Given the description of an element on the screen output the (x, y) to click on. 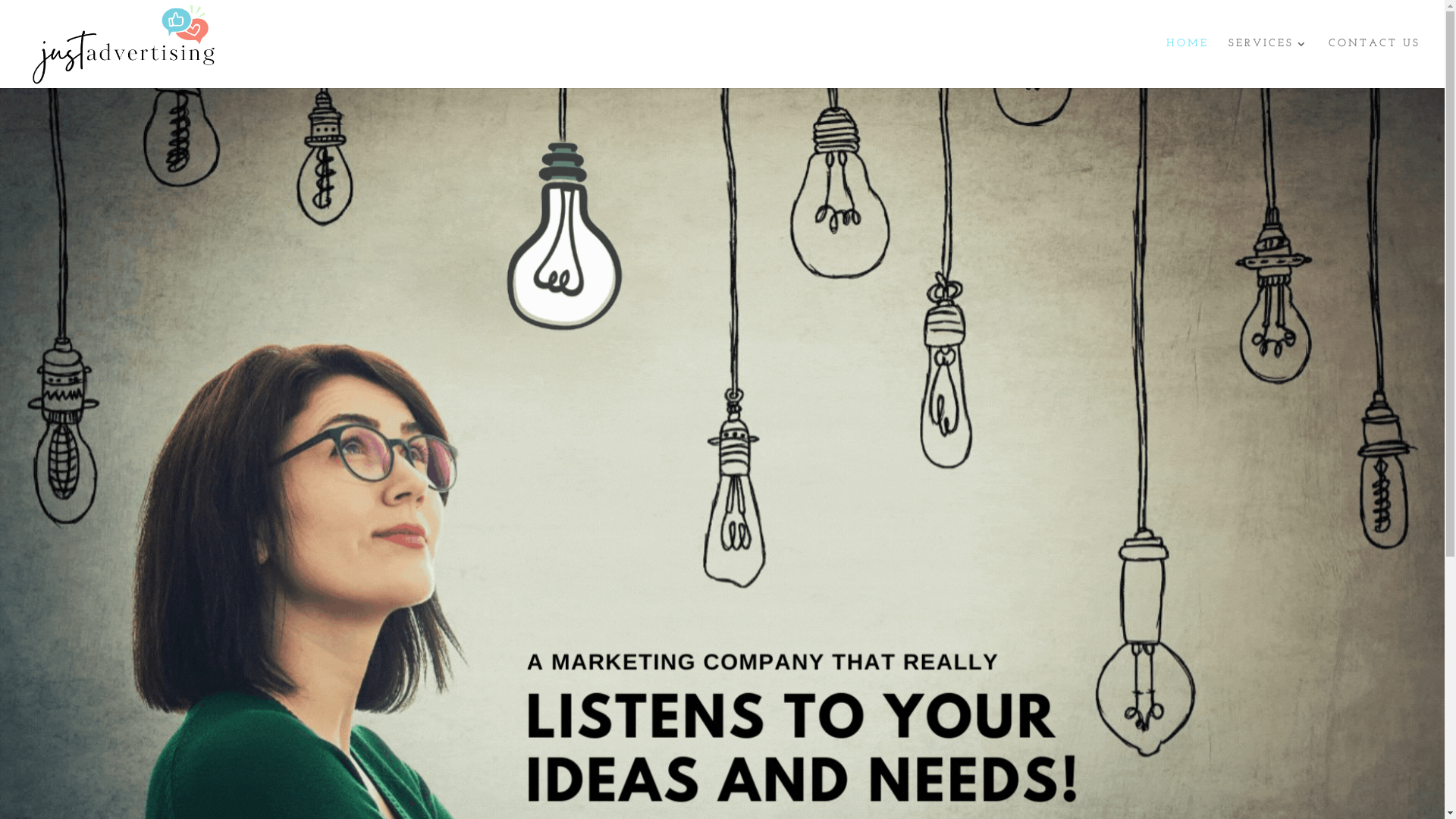
CONTACT US Element type: text (1374, 62)
SERVICES Element type: text (1268, 62)
HOME Element type: text (1187, 62)
